Given the description of an element on the screen output the (x, y) to click on. 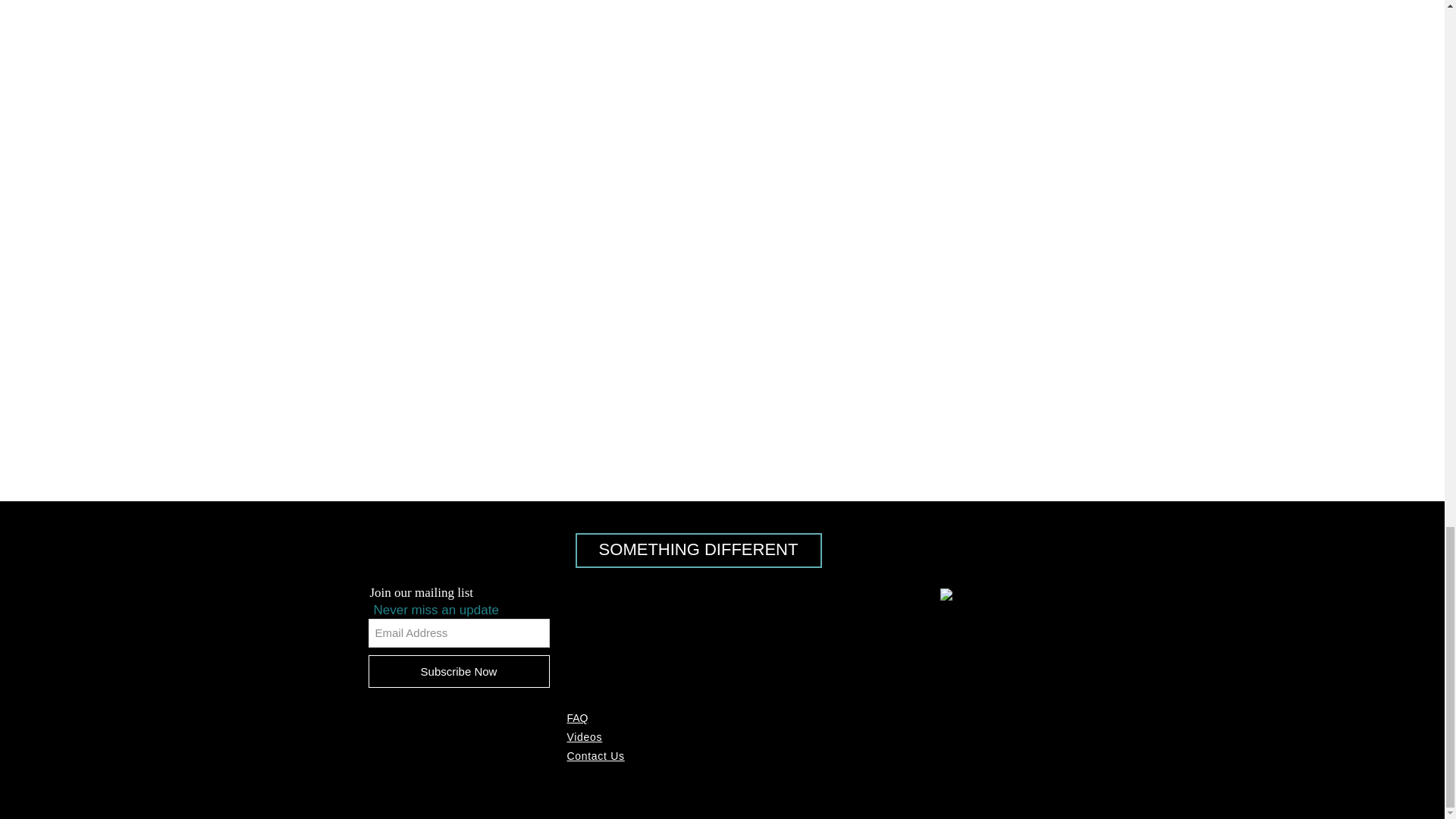
Videos (584, 736)
Subscribe Now (459, 671)
FAQ (577, 717)
Contact Us (595, 756)
SOMETHING DIFFERENT (698, 550)
